Given the description of an element on the screen output the (x, y) to click on. 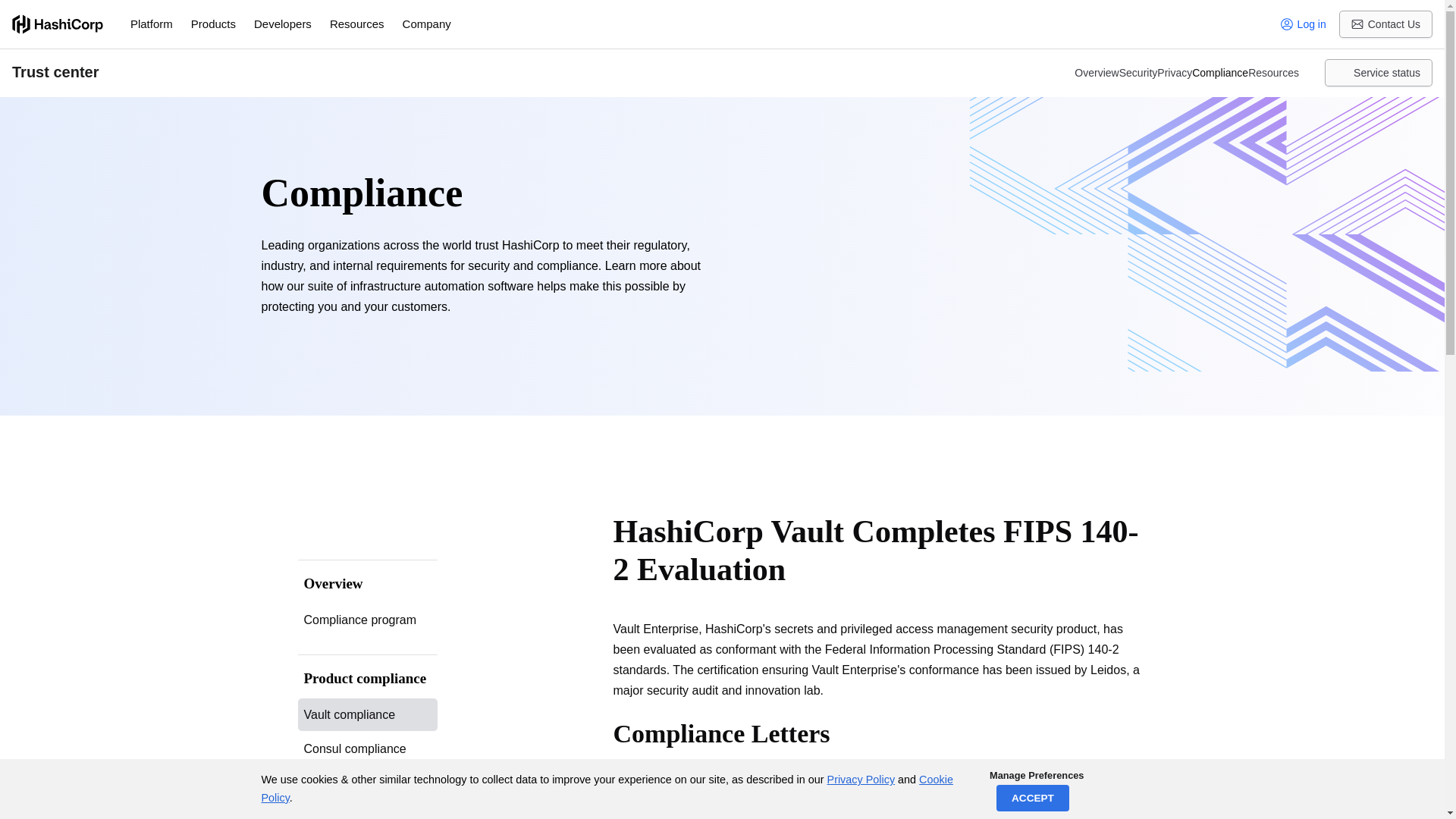
Developers (282, 24)
HashiCorp (57, 23)
Trust center (530, 72)
Products (213, 24)
Platform (151, 24)
Resources (356, 24)
